Given the description of an element on the screen output the (x, y) to click on. 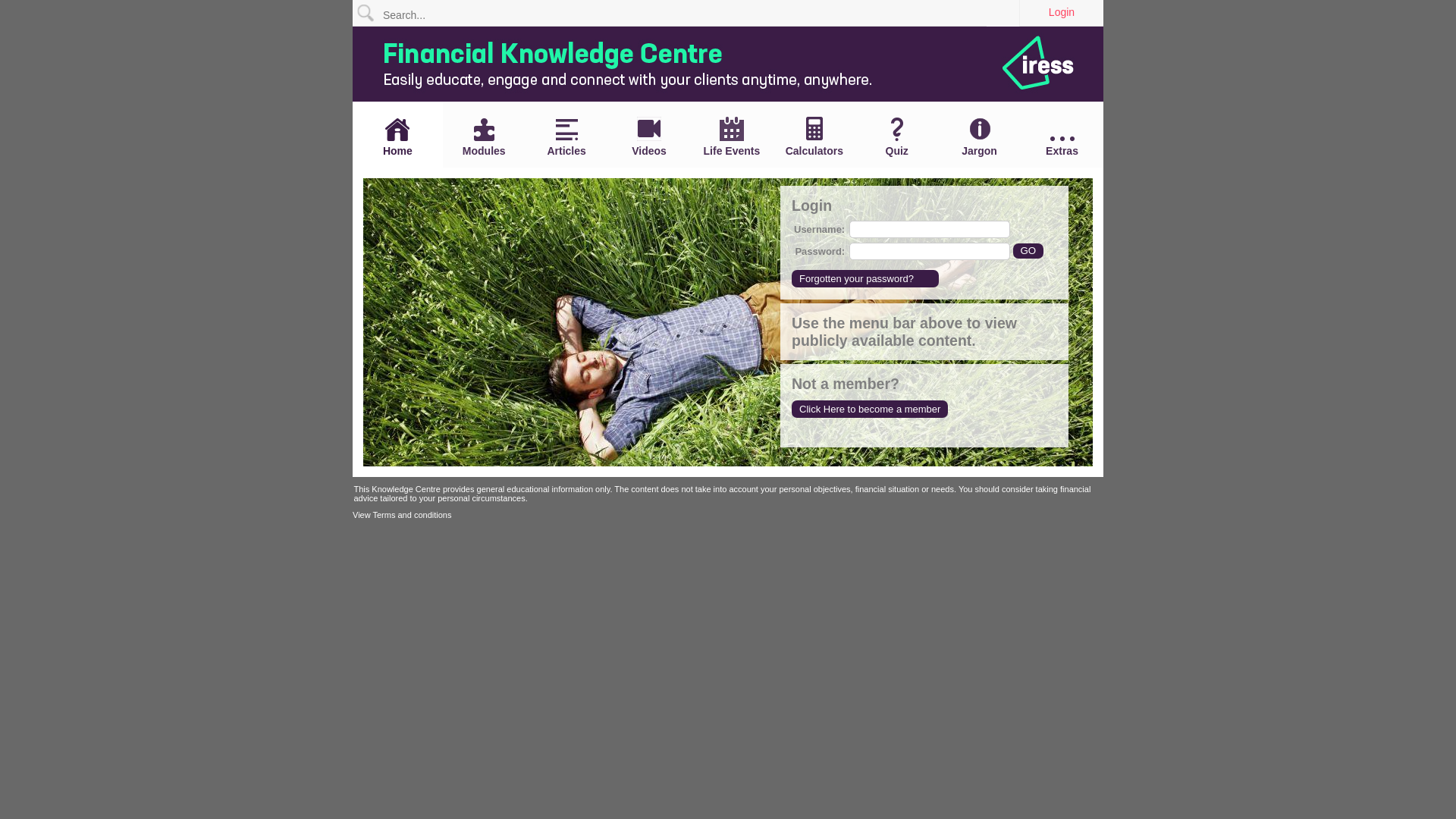
GO Element type: text (1028, 249)
Life Events Element type: text (731, 136)
Forgotten your password? Element type: text (864, 278)
Videos Element type: text (649, 136)
Calculators Element type: text (813, 136)
Extras Element type: text (1061, 146)
Jargon Element type: text (979, 136)
Home Element type: text (397, 136)
Modules Element type: text (483, 136)
Click Here to become a member Element type: text (869, 408)
Articles Element type: text (566, 137)
View Terms and conditions Element type: text (401, 514)
Quiz Element type: text (896, 136)
